Given the description of an element on the screen output the (x, y) to click on. 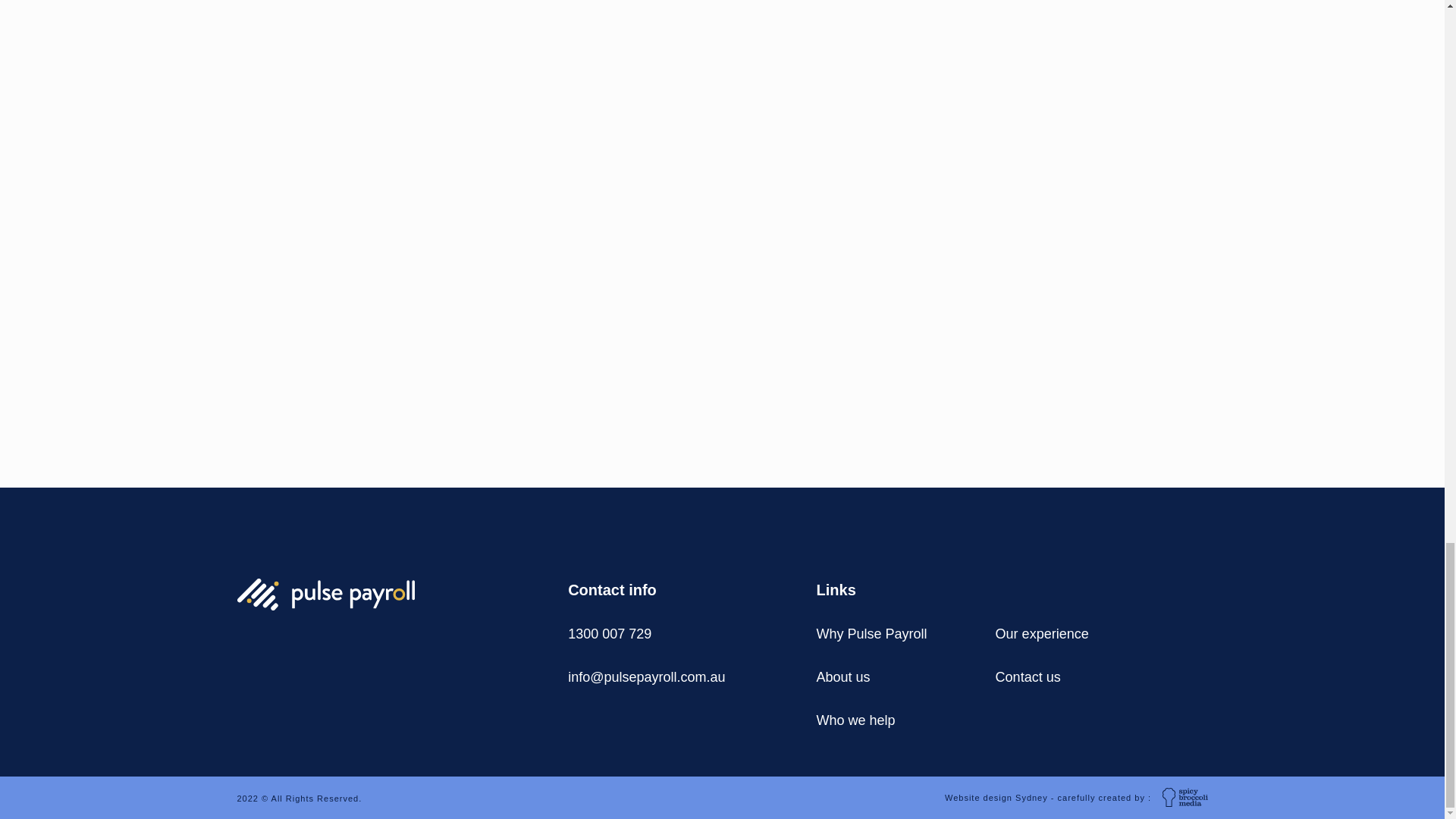
Contact us (1028, 677)
Why Pulse Payroll (871, 634)
About us (843, 677)
Who we help (855, 720)
Our experience (1042, 634)
1300 007 729 (608, 634)
